Given the description of an element on the screen output the (x, y) to click on. 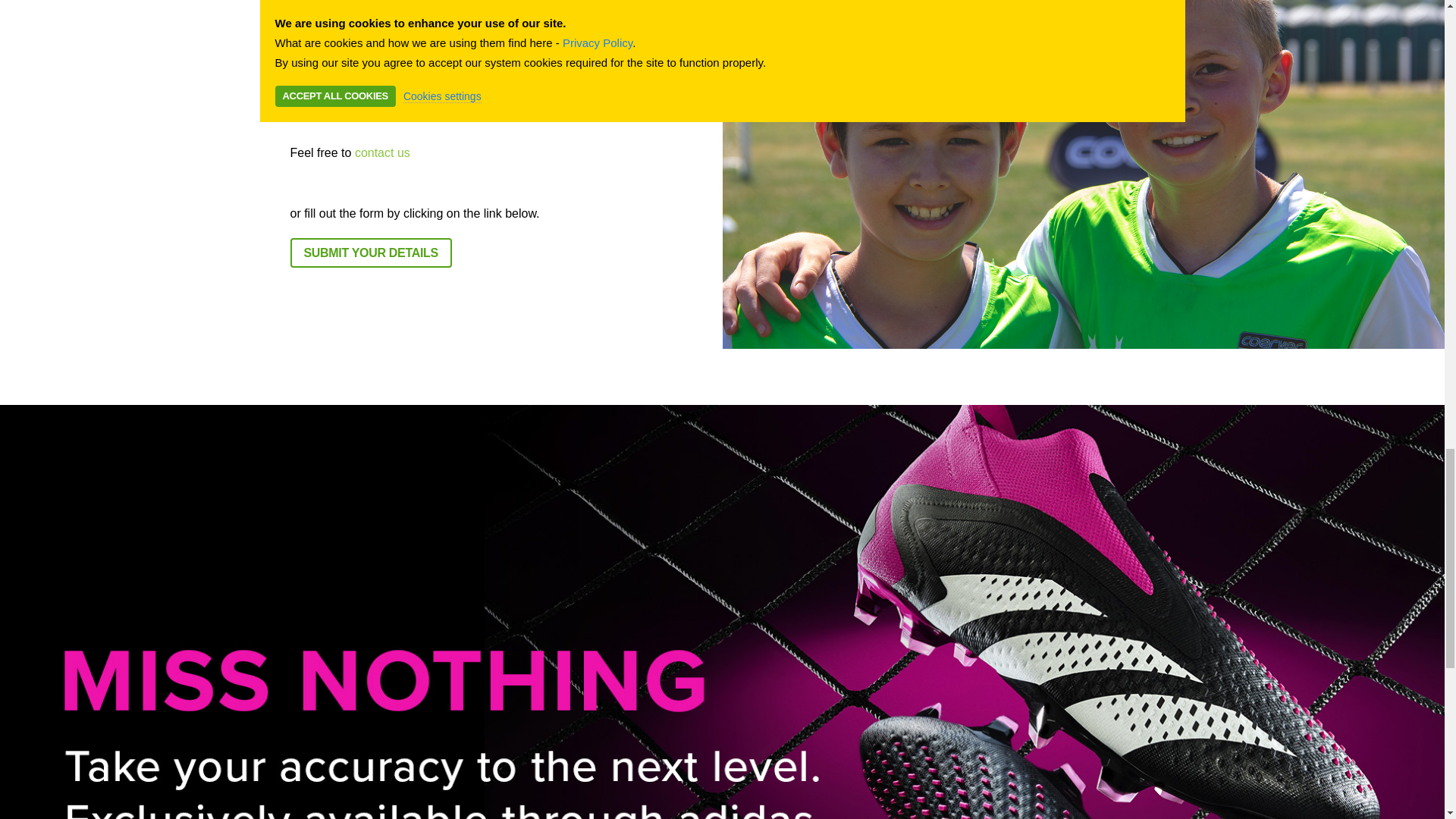
contact us (382, 152)
SUBMIT YOUR DETAILS (370, 252)
